Given the description of an element on the screen output the (x, y) to click on. 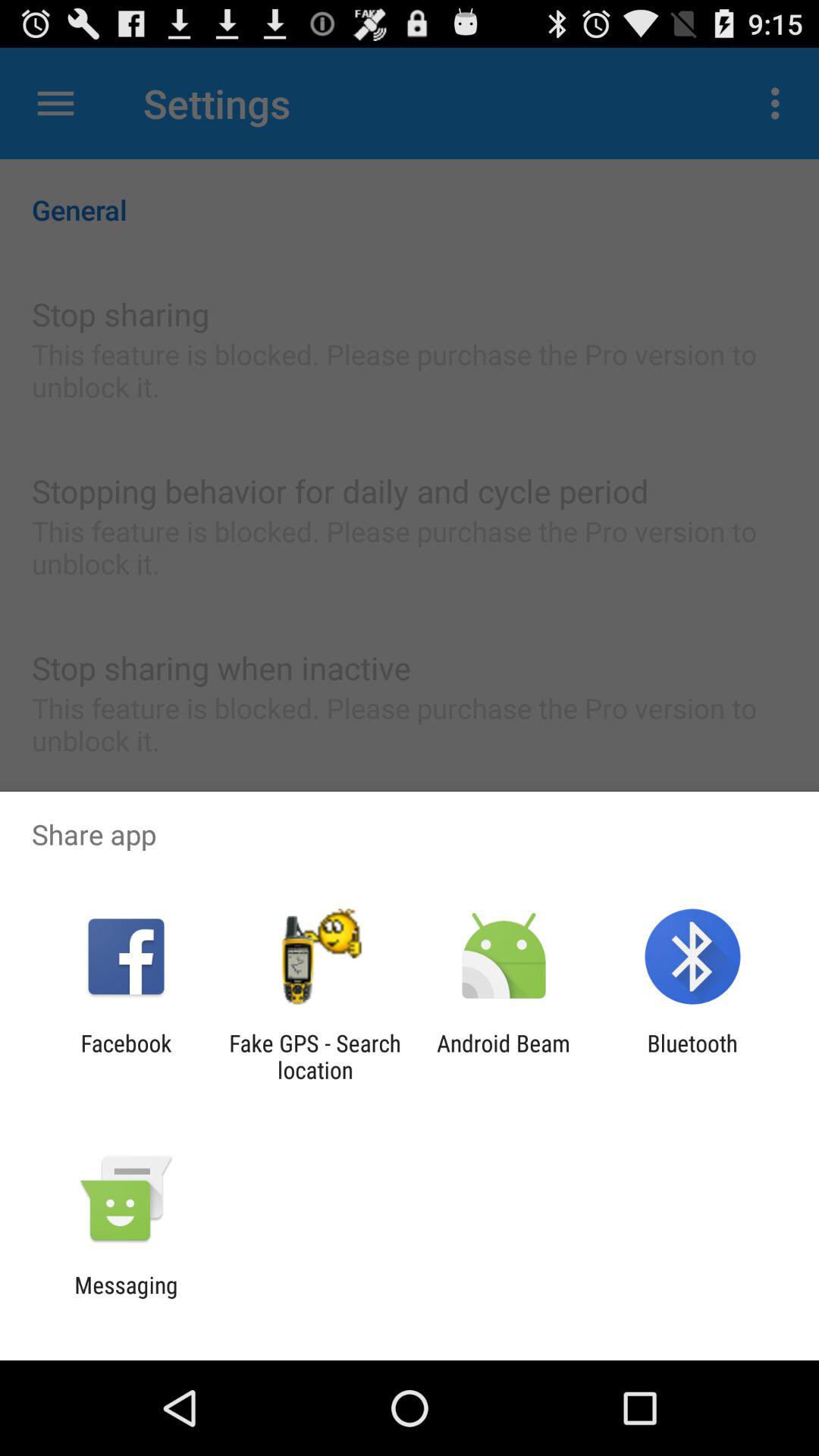
press the bluetooth (692, 1056)
